Given the description of an element on the screen output the (x, y) to click on. 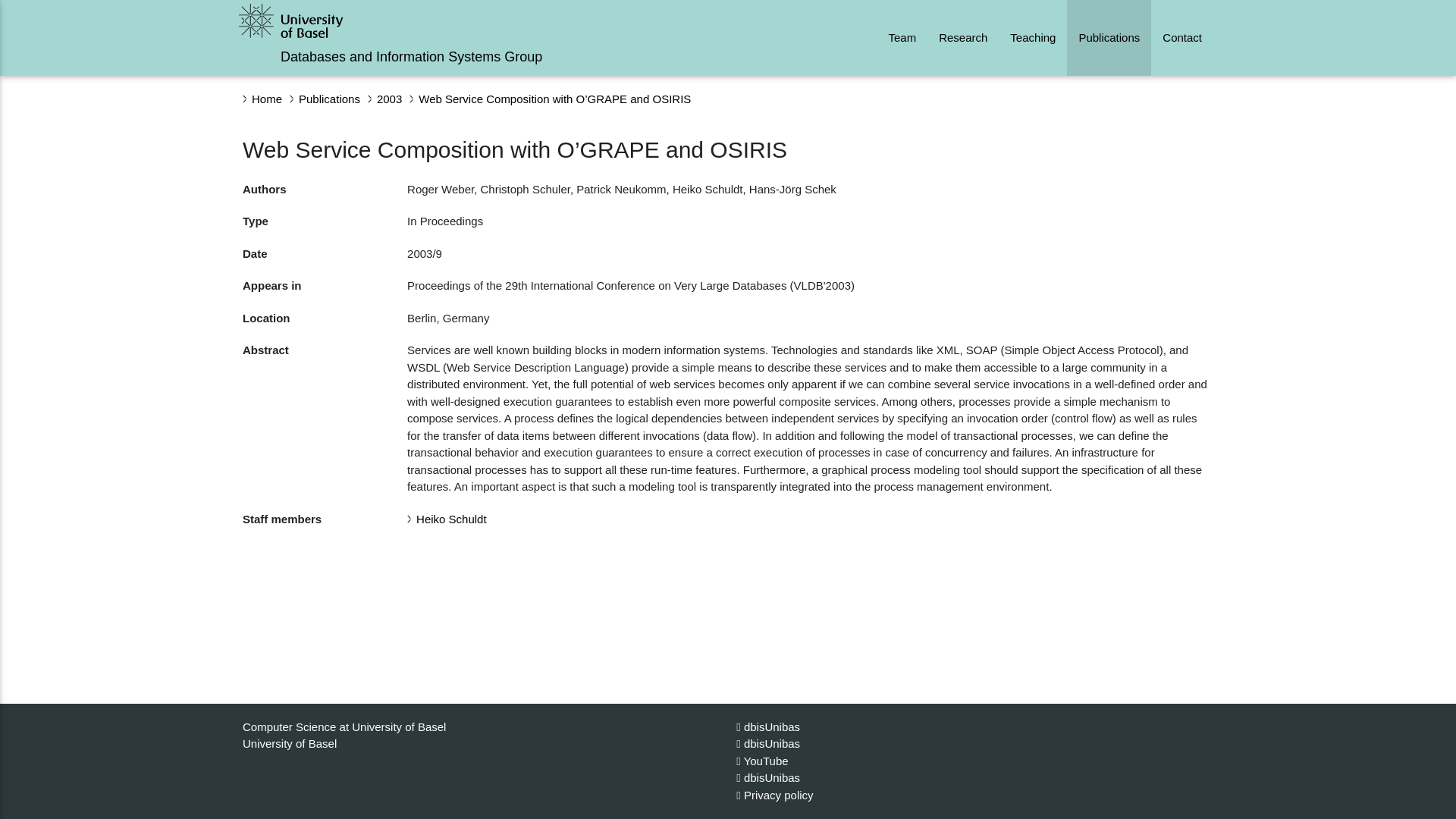
Computer Science at University of Basel (344, 726)
Privacy policy (774, 794)
Publications (1109, 38)
Heiko Schuldt (451, 518)
Databases and Information Systems Group (411, 56)
2003 (389, 98)
dbisUnibas (767, 726)
Research (962, 38)
dbisUnibas (767, 777)
YouTube (761, 759)
Teaching (1032, 38)
Publications (328, 98)
University of Basel (289, 743)
Home (266, 98)
dbisUnibas (767, 743)
